Given the description of an element on the screen output the (x, y) to click on. 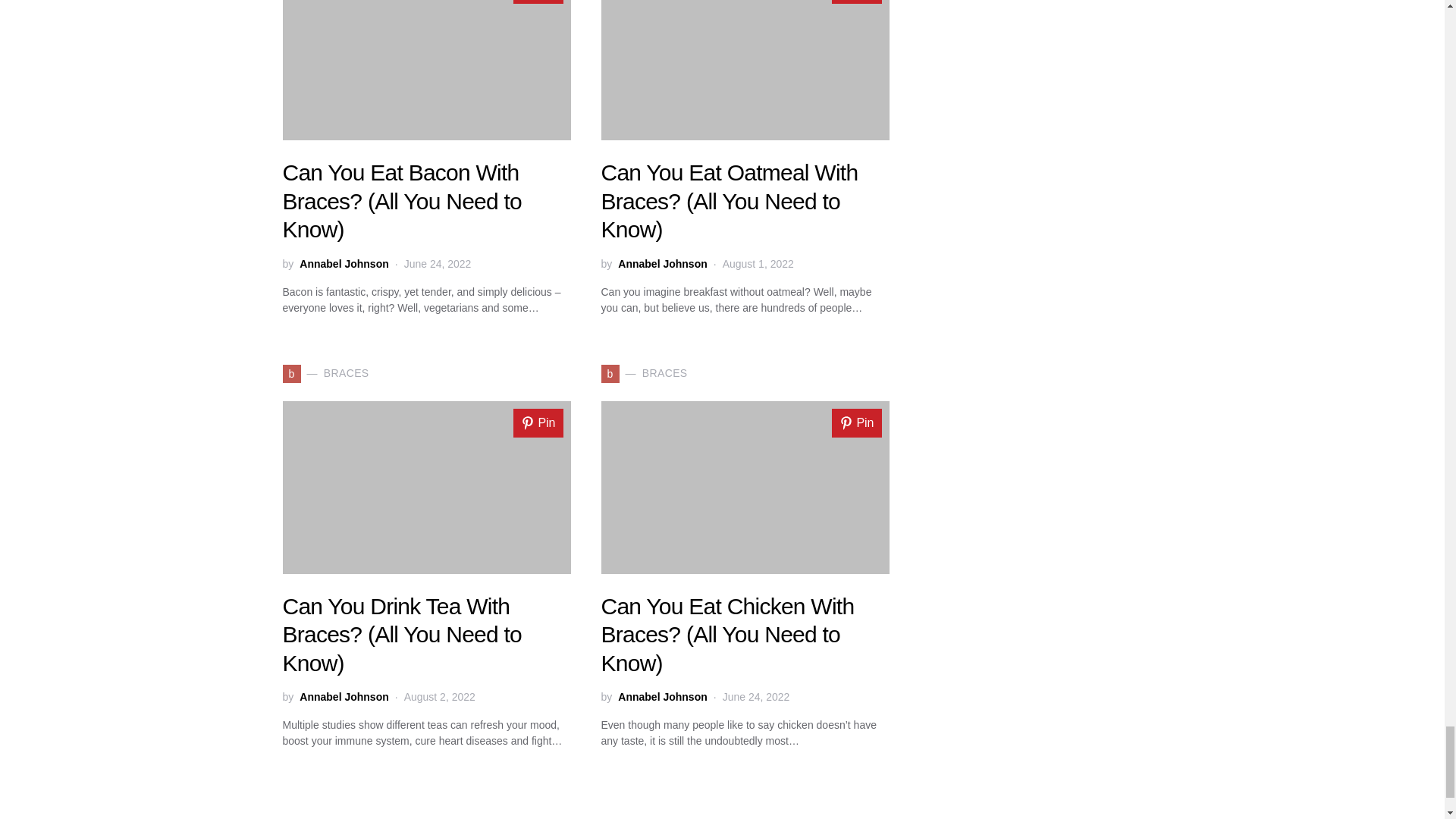
View all posts by Annabel Johnson (661, 263)
View all posts by Annabel Johnson (343, 697)
View all posts by Annabel Johnson (343, 263)
View all posts by Annabel Johnson (661, 697)
